Given the description of an element on the screen output the (x, y) to click on. 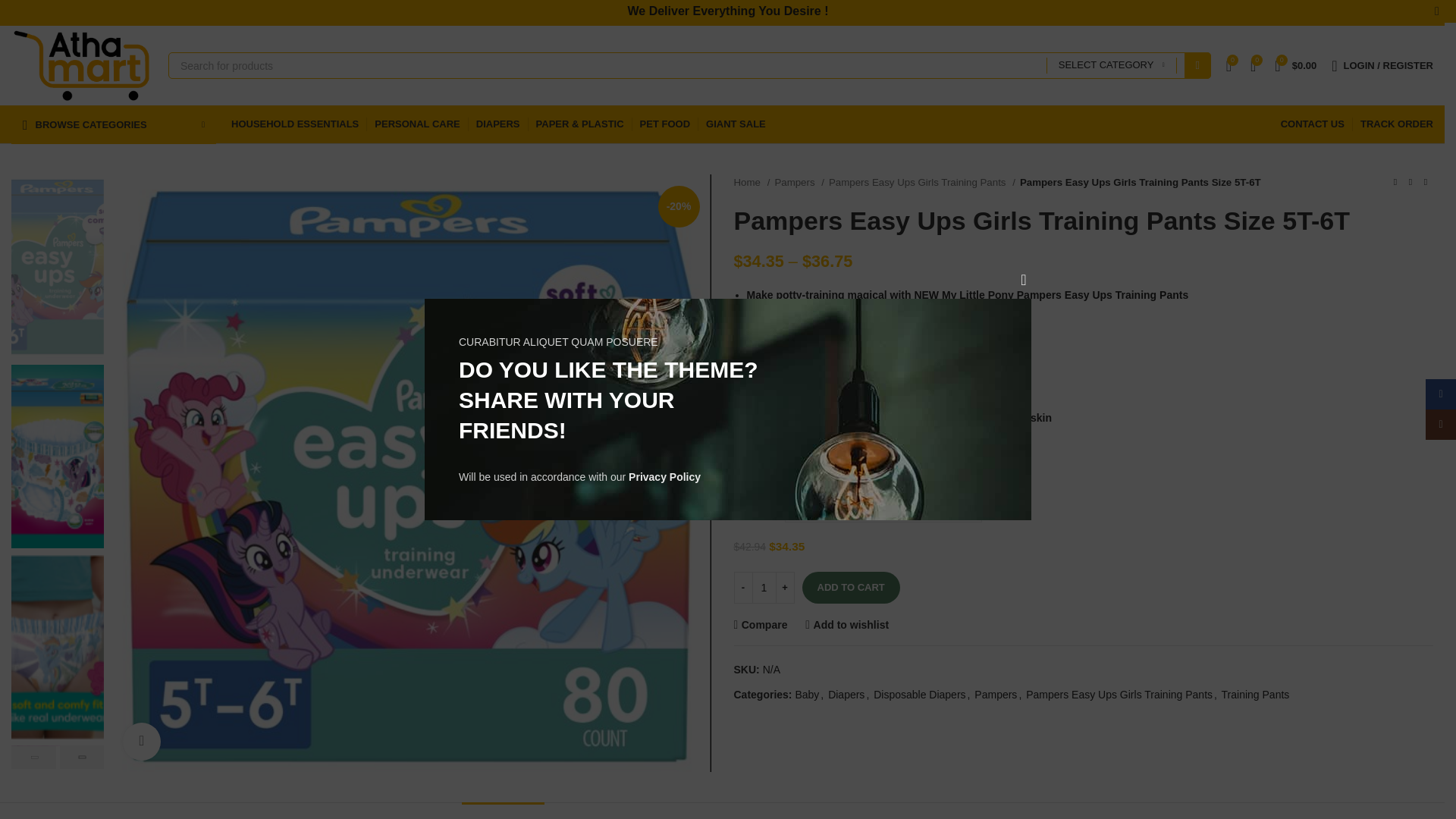
My account (1382, 64)
Privacy Policy (664, 476)
Search for products (689, 65)
SELECT CATEGORY (1111, 65)
SELECT CATEGORY (1111, 65)
Shopping cart (1294, 64)
